Given the description of an element on the screen output the (x, y) to click on. 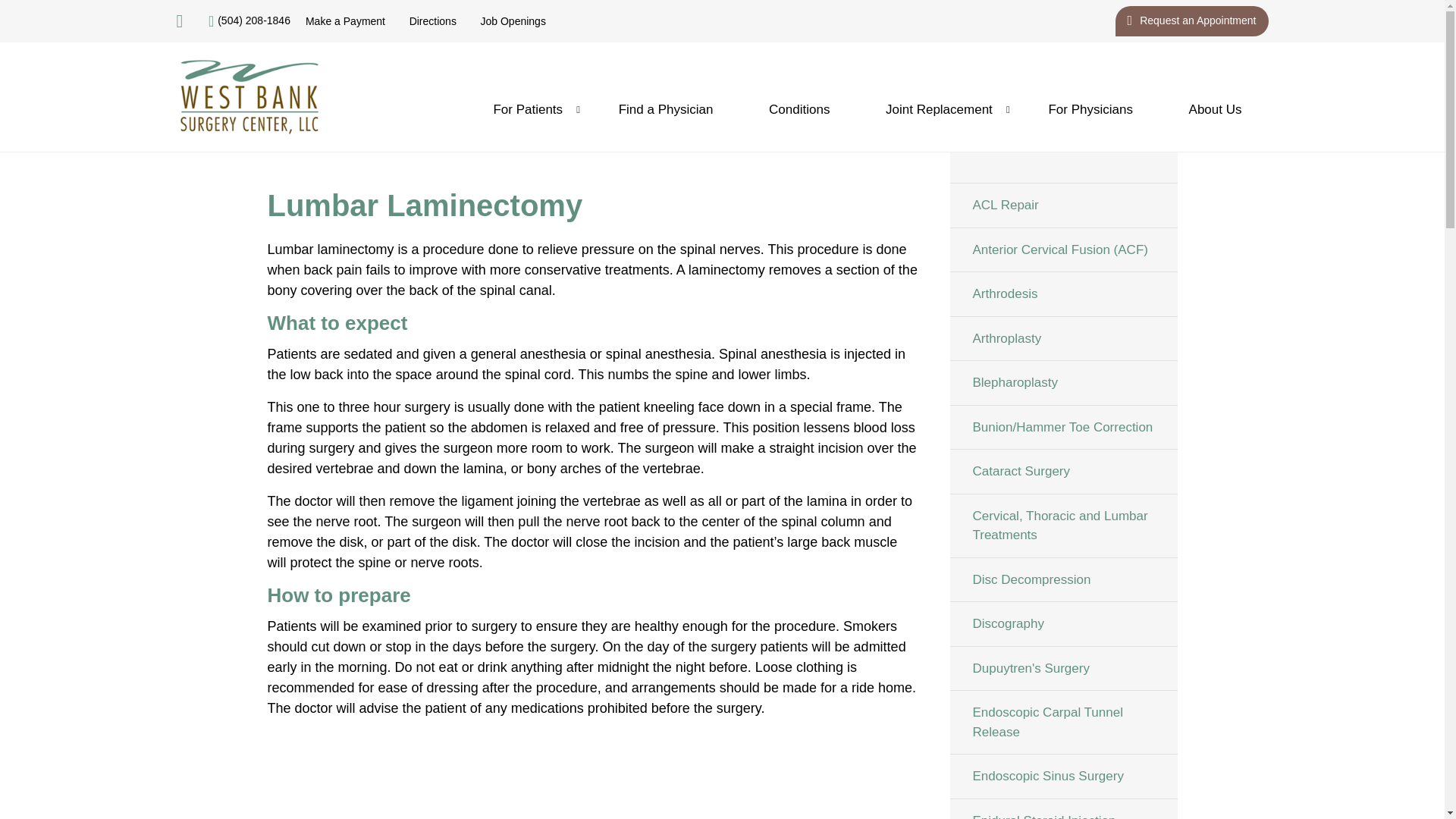
About Us (1215, 109)
Cataract Surgery (1062, 470)
Conditions (798, 109)
Find a Physician (665, 109)
Job Openings (513, 21)
Endoscopic Sinus Surgery (1062, 775)
Joint Replacement (938, 109)
Cervical, Thoracic and Lumbar Treatments (1062, 524)
West Bank Surgery Center (248, 96)
Arthroplasty (1062, 337)
Epidural Steroid Injection (1062, 808)
Request an Appointment (1191, 20)
Endoscopic Carpal Tunnel Release (1062, 721)
For Physicians (1090, 109)
Discography (1062, 623)
